Given the description of an element on the screen output the (x, y) to click on. 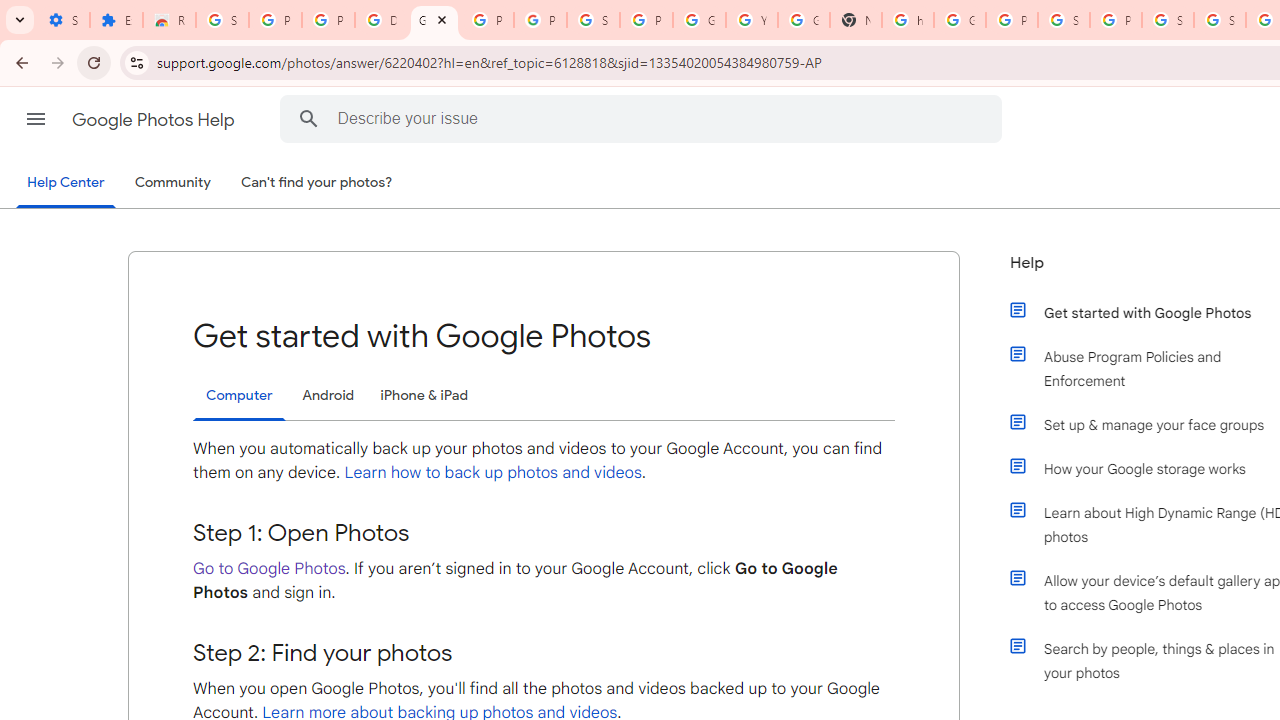
Delete photos & videos - Computer - Google Photos Help (381, 20)
Community (171, 183)
iPhone & iPad (424, 395)
Android (328, 395)
Sign in - Google Accounts (1064, 20)
Google Photos Help (155, 119)
New Tab (855, 20)
Sign in - Google Accounts (1167, 20)
Learn how to back up photos and videos (493, 472)
Sign in - Google Accounts (222, 20)
Search Help Center (309, 118)
